Given the description of an element on the screen output the (x, y) to click on. 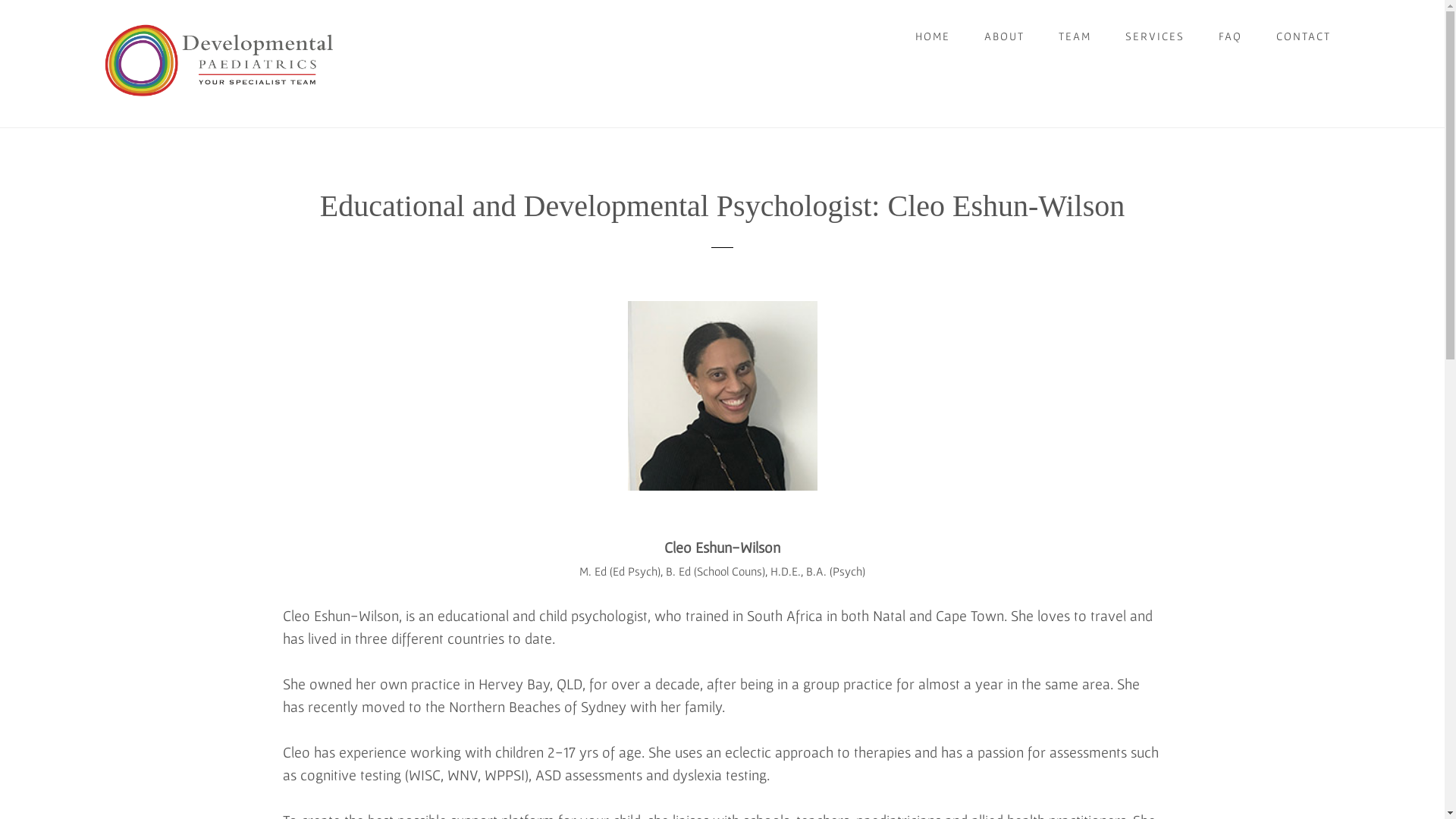
HOME Element type: text (932, 35)
FAQ Element type: text (1230, 35)
SERVICES Element type: text (1154, 35)
Skip to primary navigation Element type: text (0, 0)
ABOUT Element type: text (1004, 35)
TEAM Element type: text (1074, 35)
CONTACT Element type: text (1303, 35)
